Given the description of an element on the screen output the (x, y) to click on. 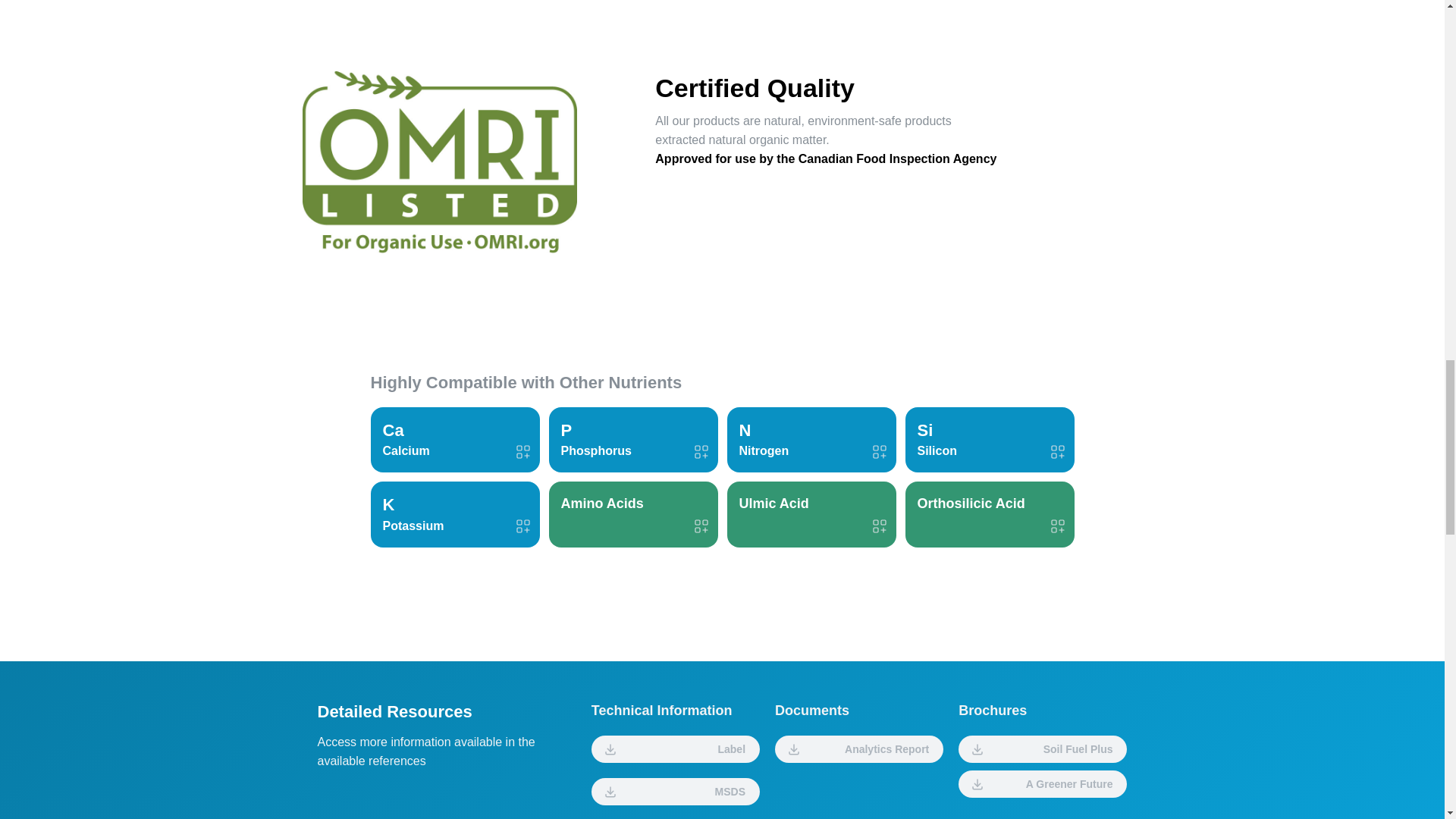
Label (675, 748)
Analytics Report (858, 748)
Soil Fuel Plus (1042, 748)
A Greener Future (1042, 783)
MSDS (675, 787)
MSDS (675, 791)
